Given the description of an element on the screen output the (x, y) to click on. 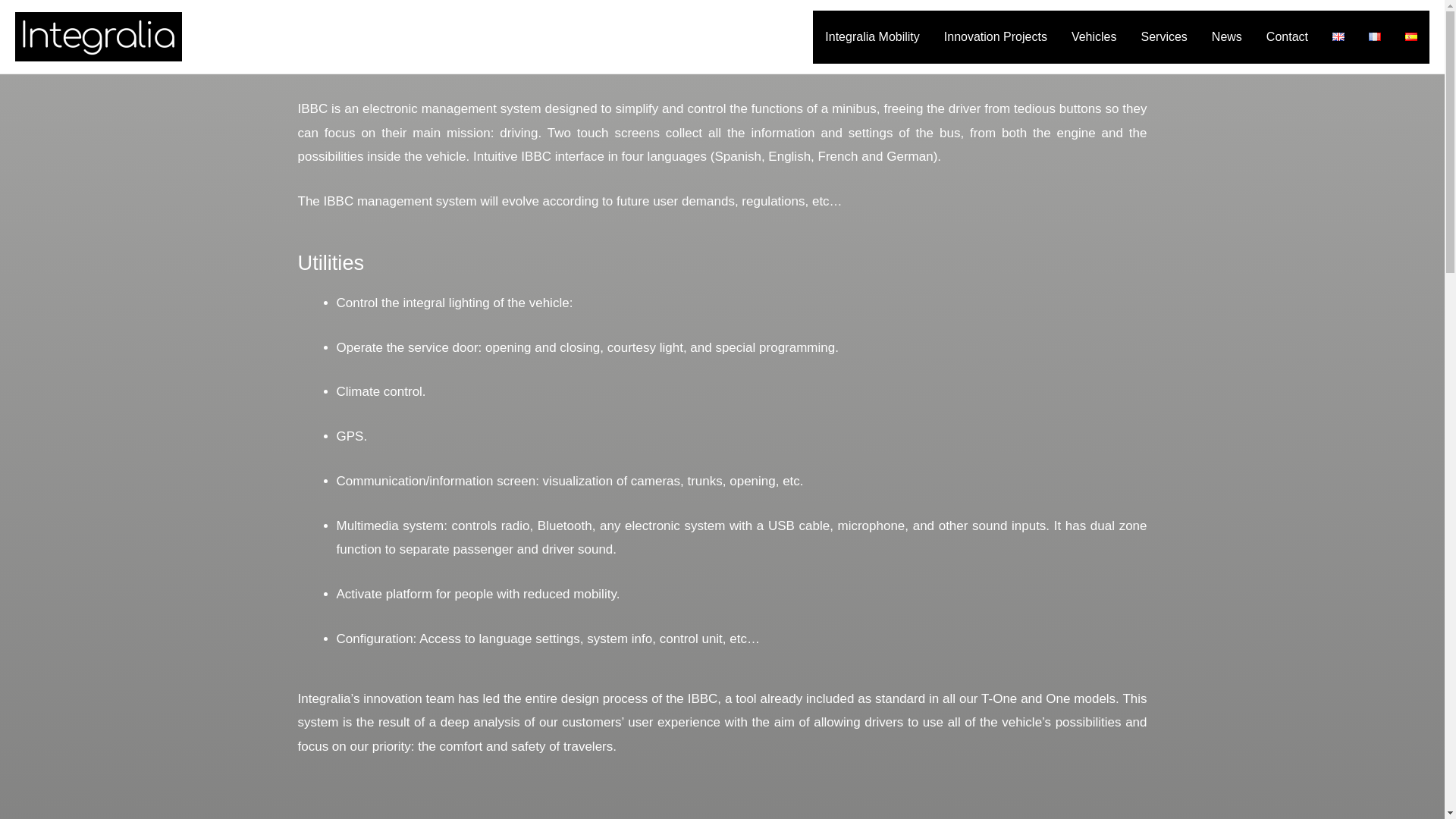
Integralia Mobility (871, 36)
Contact (1286, 36)
Vehicles (1094, 36)
News (1226, 36)
Services (1163, 36)
Innovation Projects (995, 36)
